Given the description of an element on the screen output the (x, y) to click on. 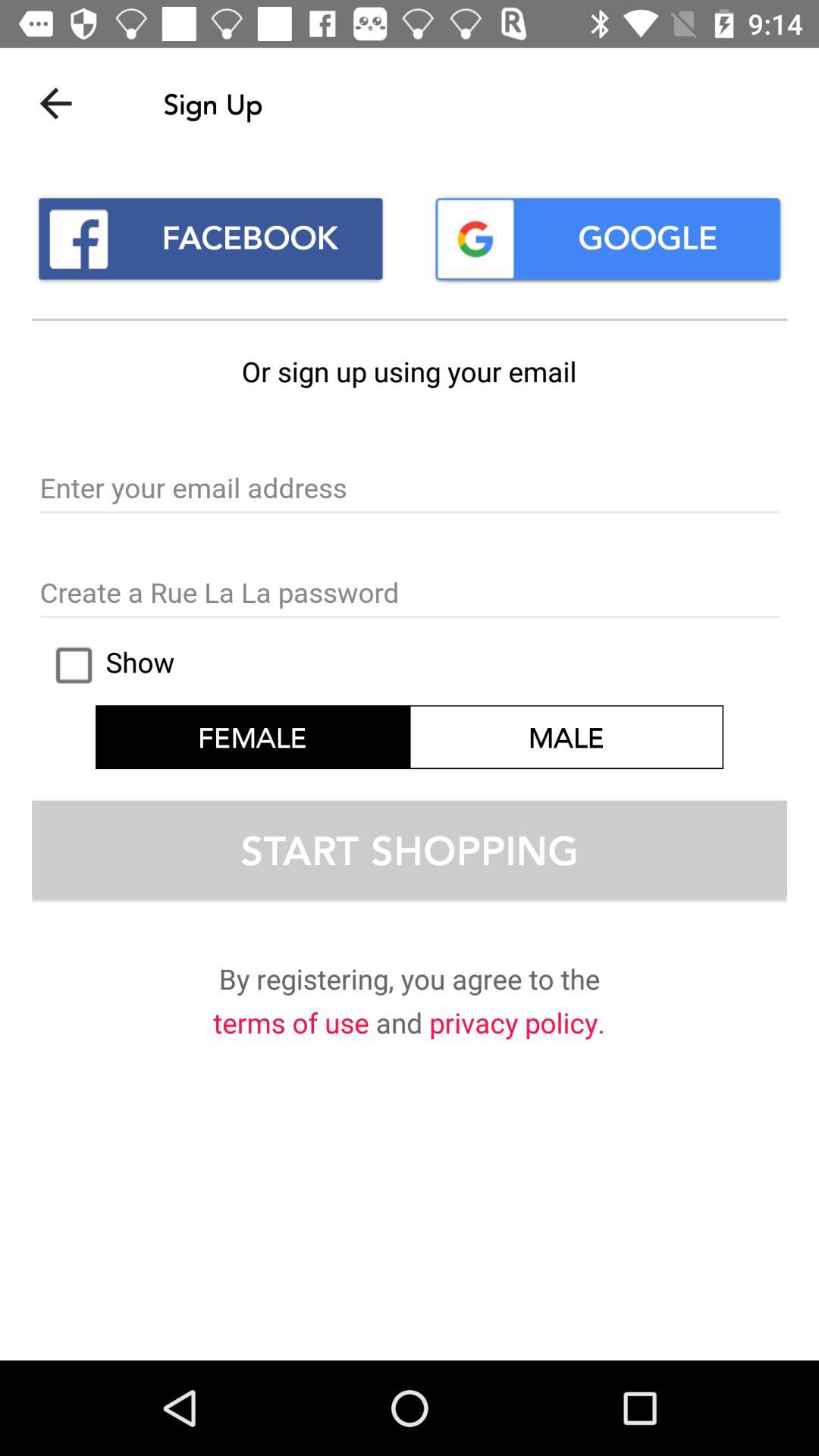
select the item on the right (566, 736)
